Given the description of an element on the screen output the (x, y) to click on. 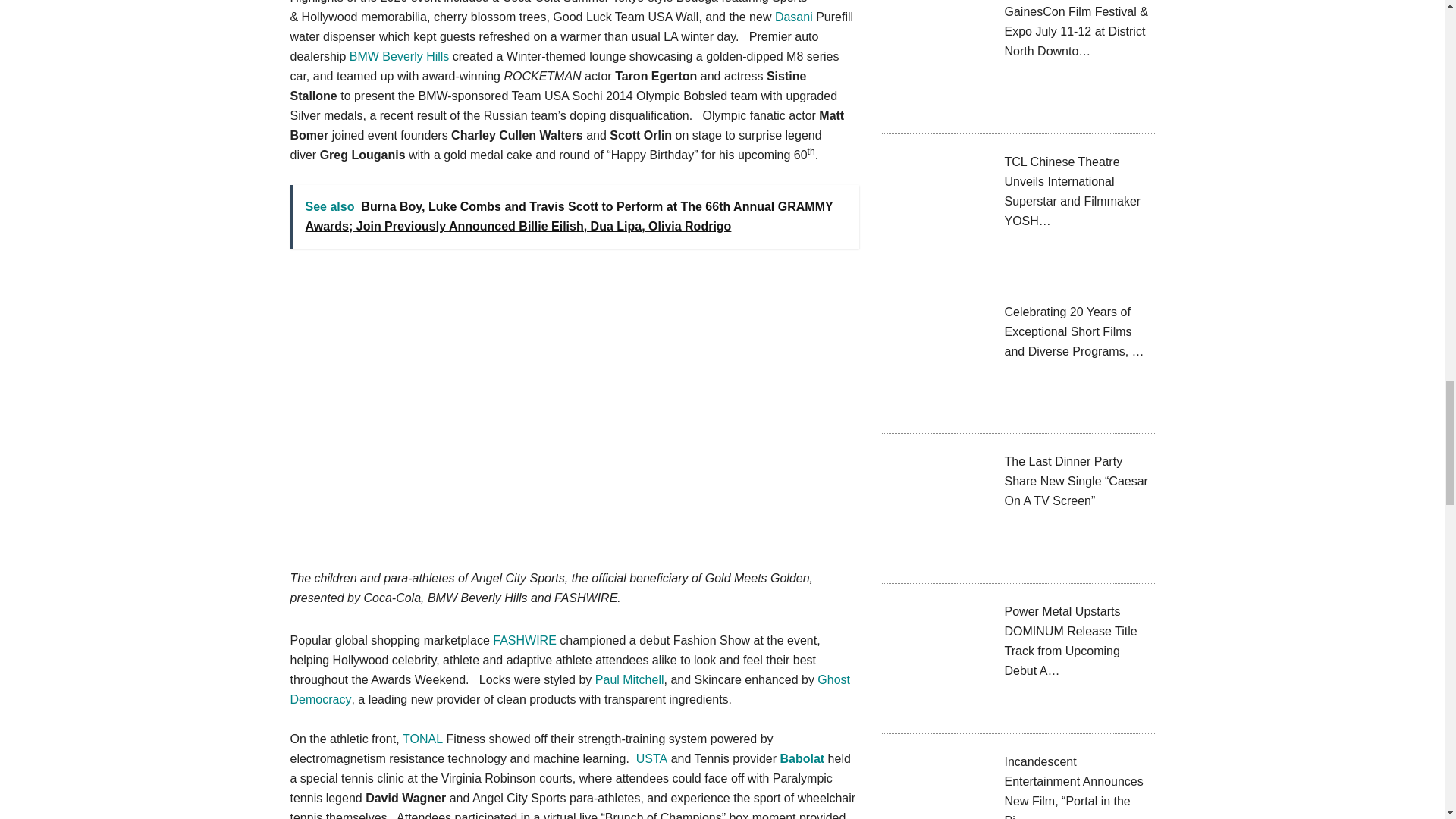
Ghost Democracy (569, 689)
Dasani (793, 16)
FASHWIRE (524, 640)
TONAL (422, 738)
BMW Beverly Hills (399, 56)
Paul Mitchell (629, 679)
